Given the description of an element on the screen output the (x, y) to click on. 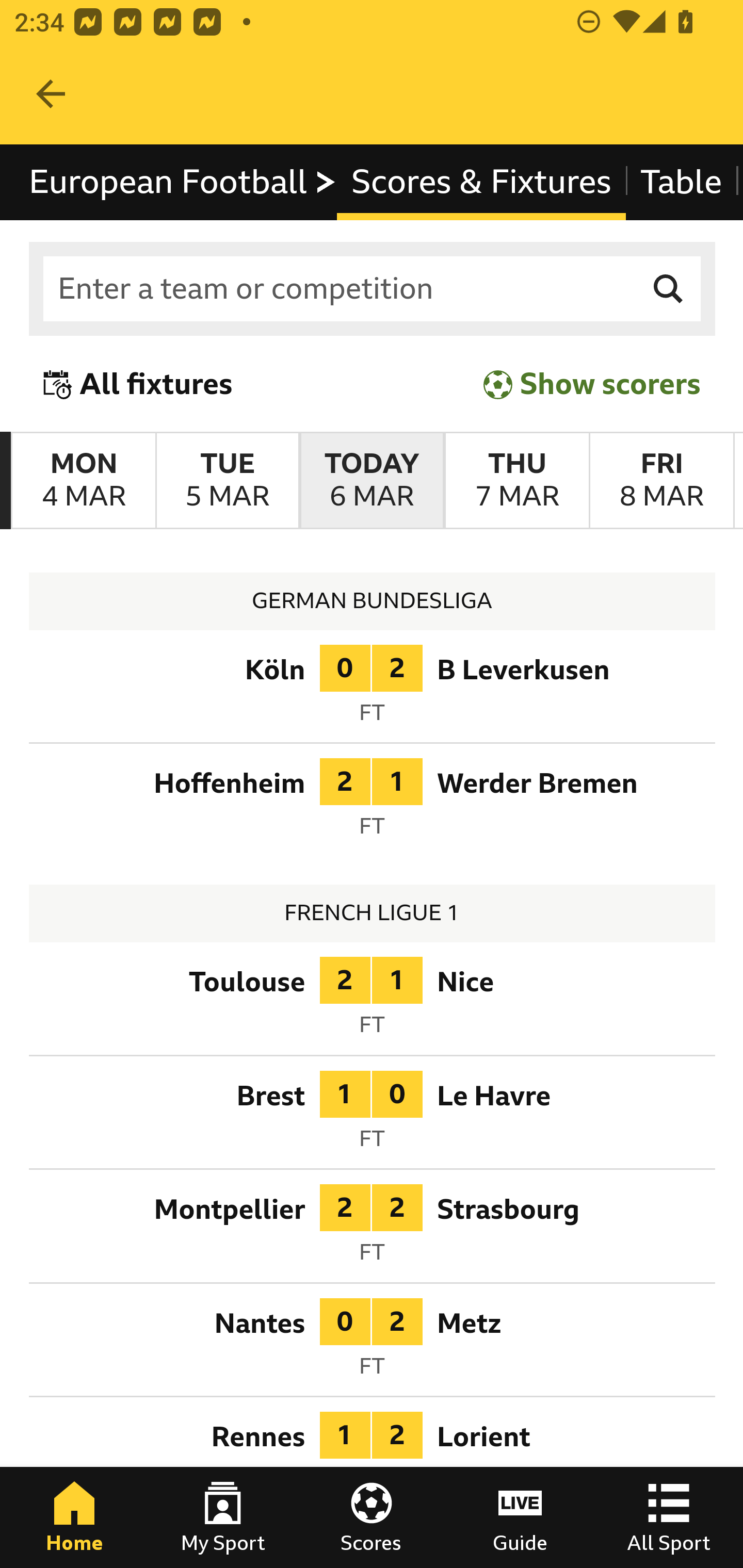
Navigate up (50, 93)
European Football  (182, 181)
Scores & Fixtures (480, 181)
Table (681, 181)
Search (669, 289)
All fixtures (137, 383)
Show scorers (591, 383)
MondayMarch 4th Monday March 4th (83, 480)
TuesdayMarch 5th Tuesday March 5th (227, 480)
TodayMarch 6th Today March 6th (371, 480)
ThursdayMarch 7th Thursday March 7th (516, 480)
FridayMarch 8th Friday March 8th (661, 480)
My Sport (222, 1517)
Scores (371, 1517)
Guide (519, 1517)
All Sport (668, 1517)
